Given the description of an element on the screen output the (x, y) to click on. 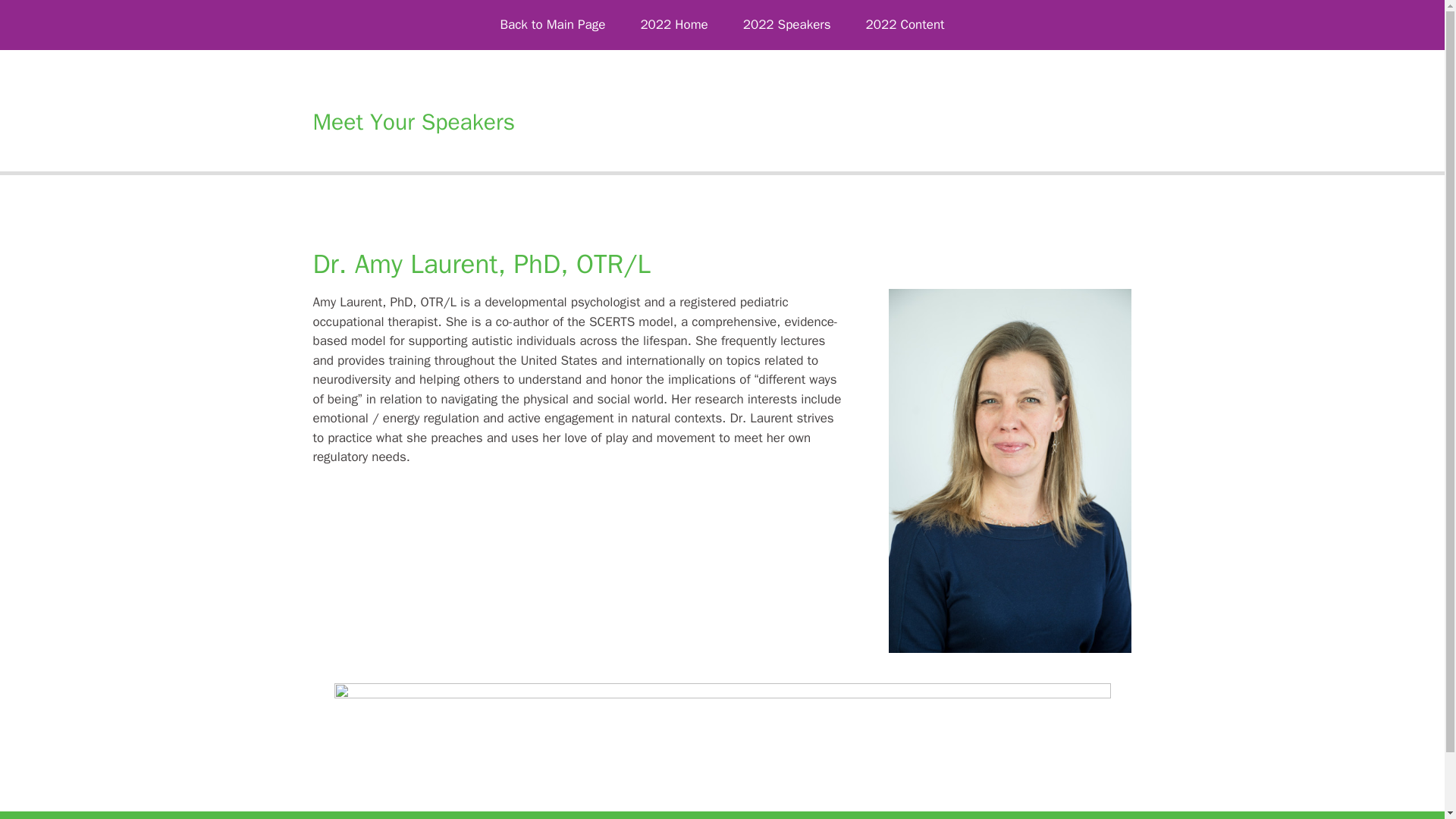
Back to Main Page (552, 24)
2022 Home (673, 24)
2022 Speakers (786, 24)
2022 Content (904, 24)
